Given the description of an element on the screen output the (x, y) to click on. 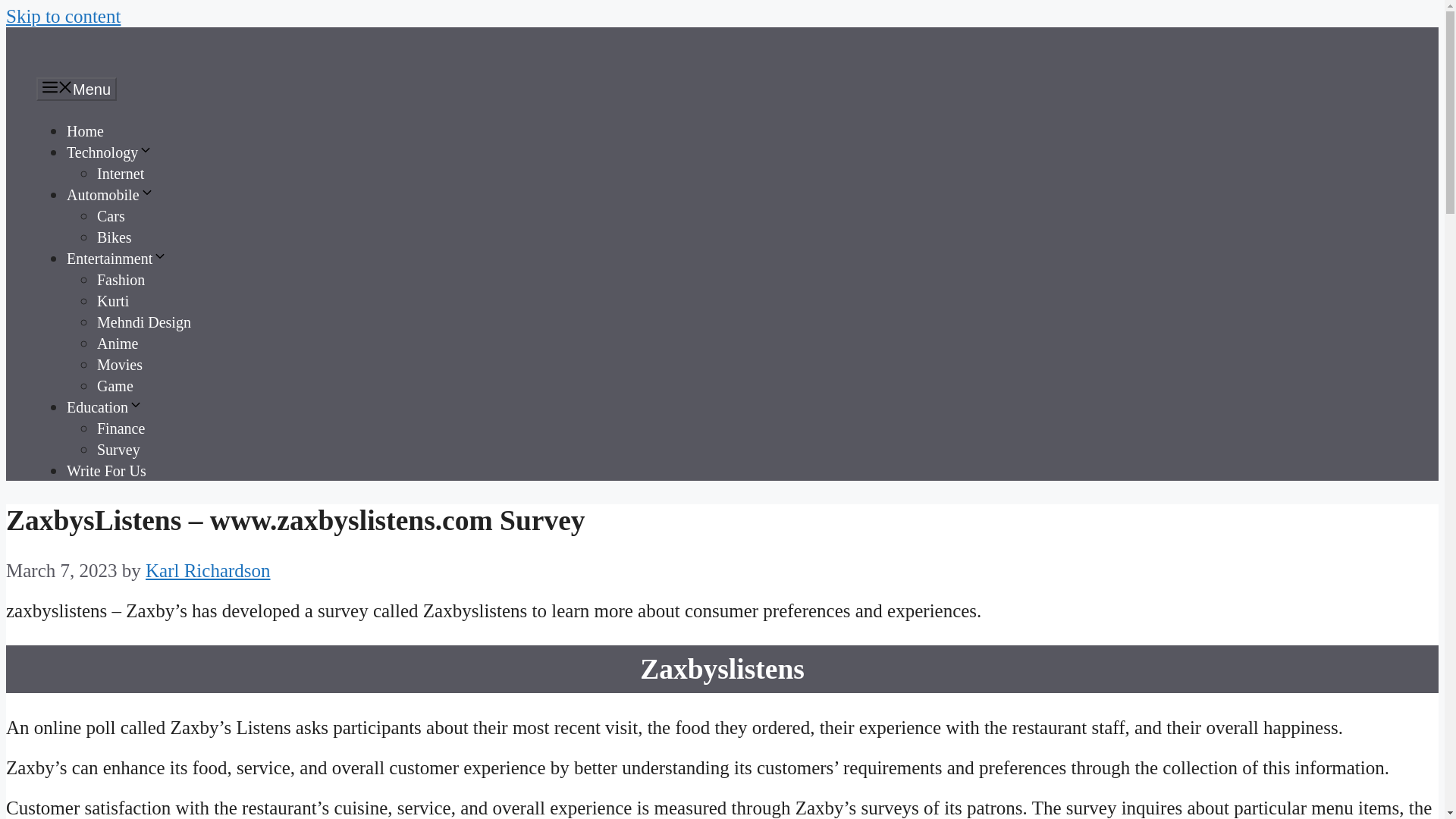
Survey (118, 449)
Education (104, 406)
Write For Us (106, 470)
Skip to content (62, 15)
Bikes (114, 237)
Automobile (110, 194)
Kurti (113, 300)
Internet (120, 173)
Mehndi Design (143, 321)
DSC (66, 67)
Menu (76, 88)
Entertainment (116, 258)
Technology (109, 152)
Karl Richardson (207, 570)
Movies (119, 364)
